Given the description of an element on the screen output the (x, y) to click on. 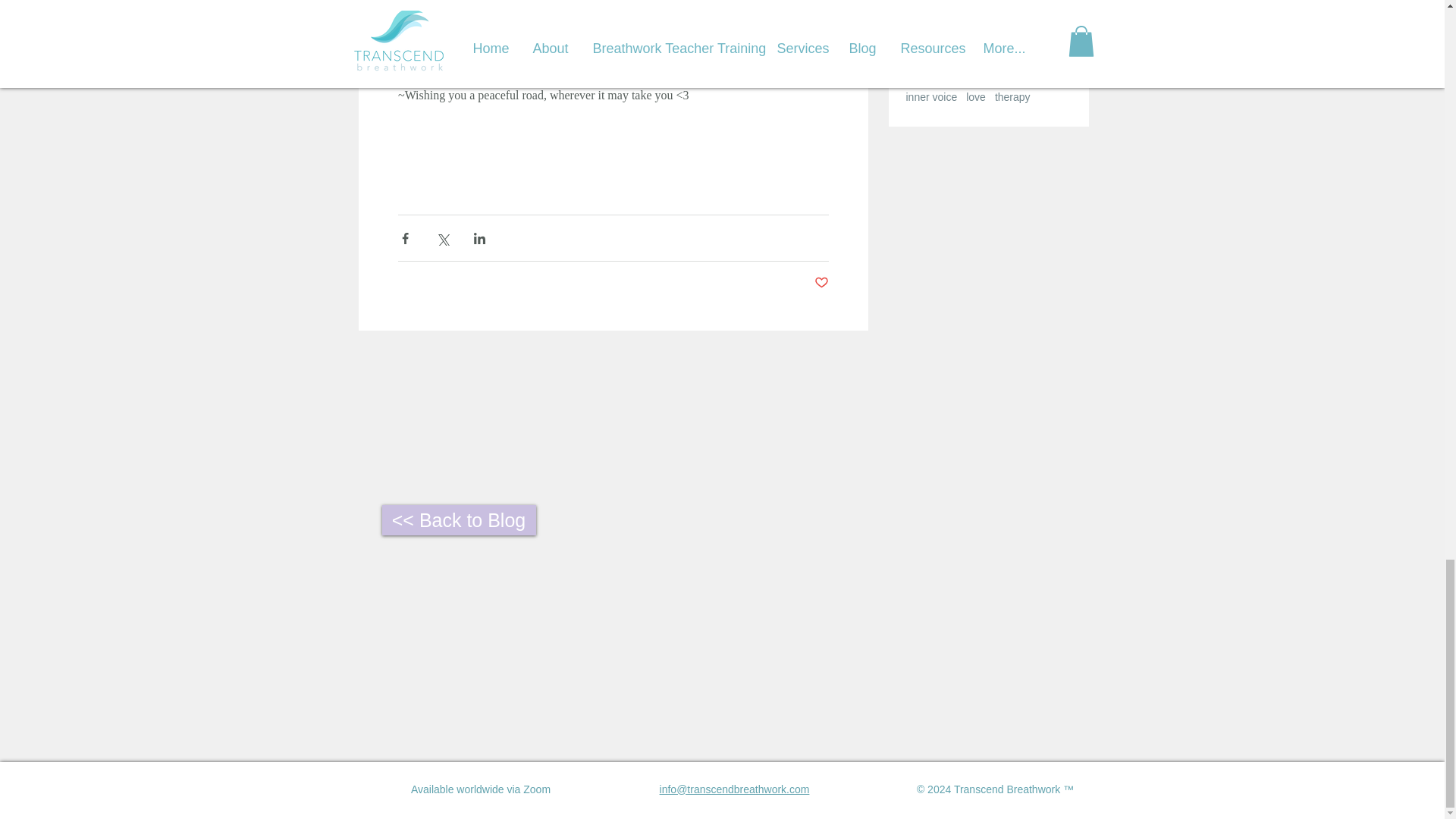
Post not marked as liked (820, 283)
